Given the description of an element on the screen output the (x, y) to click on. 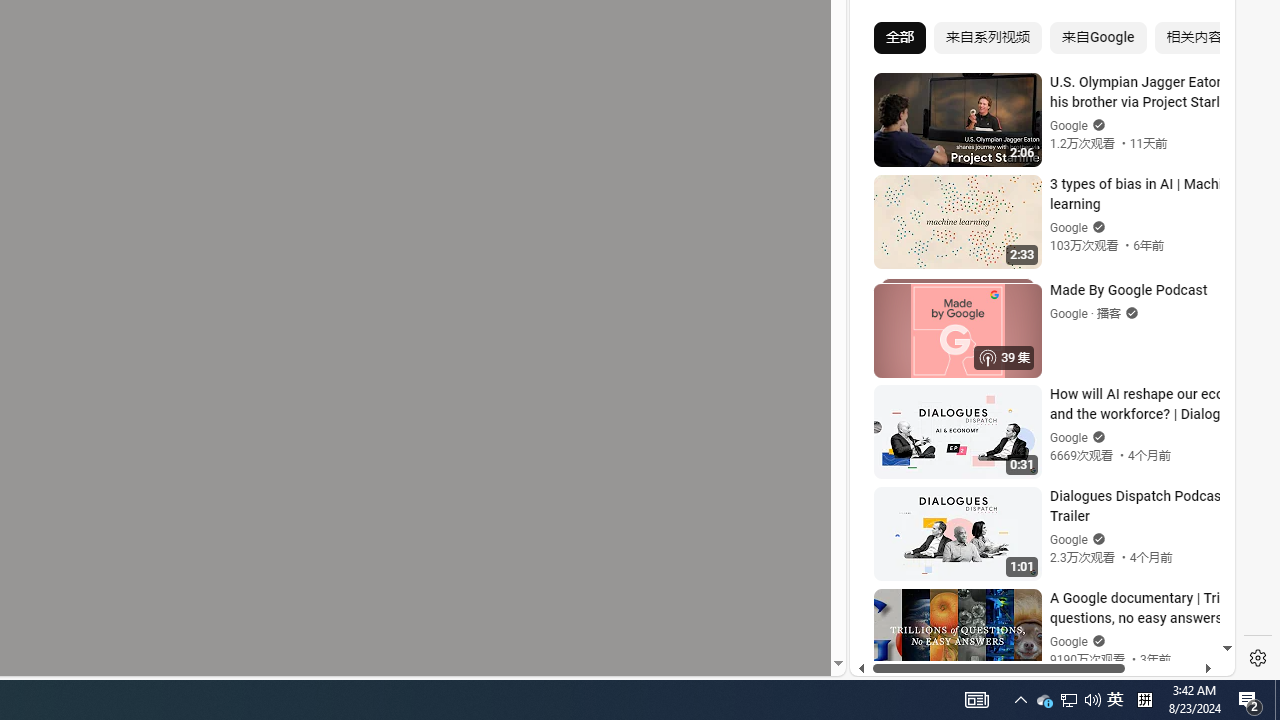
YouTube (1034, 432)
Click to scroll right (1196, 83)
Actions for this site (1131, 443)
#you (1034, 439)
